Given the description of an element on the screen output the (x, y) to click on. 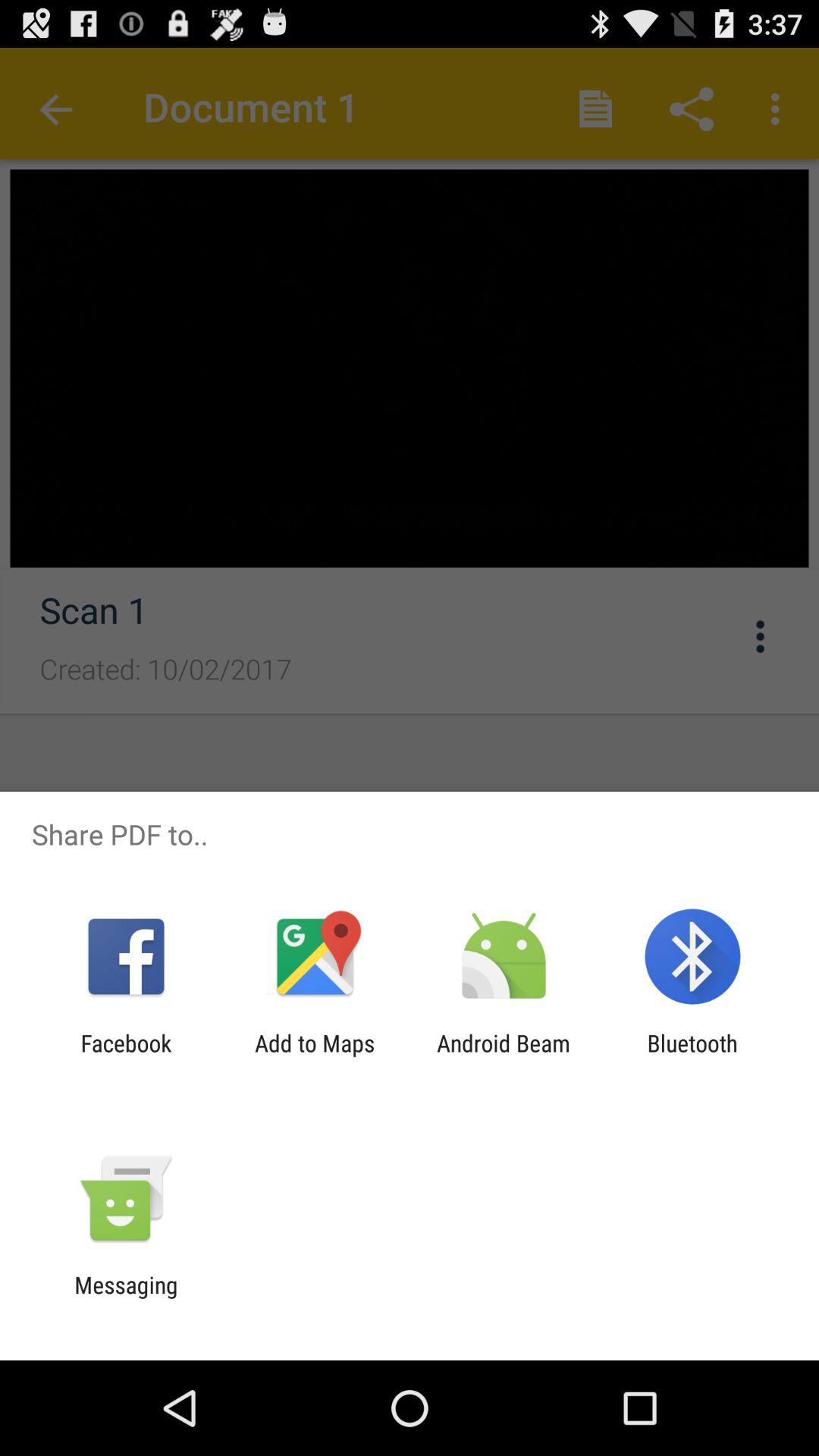
press the messaging item (126, 1298)
